Given the description of an element on the screen output the (x, y) to click on. 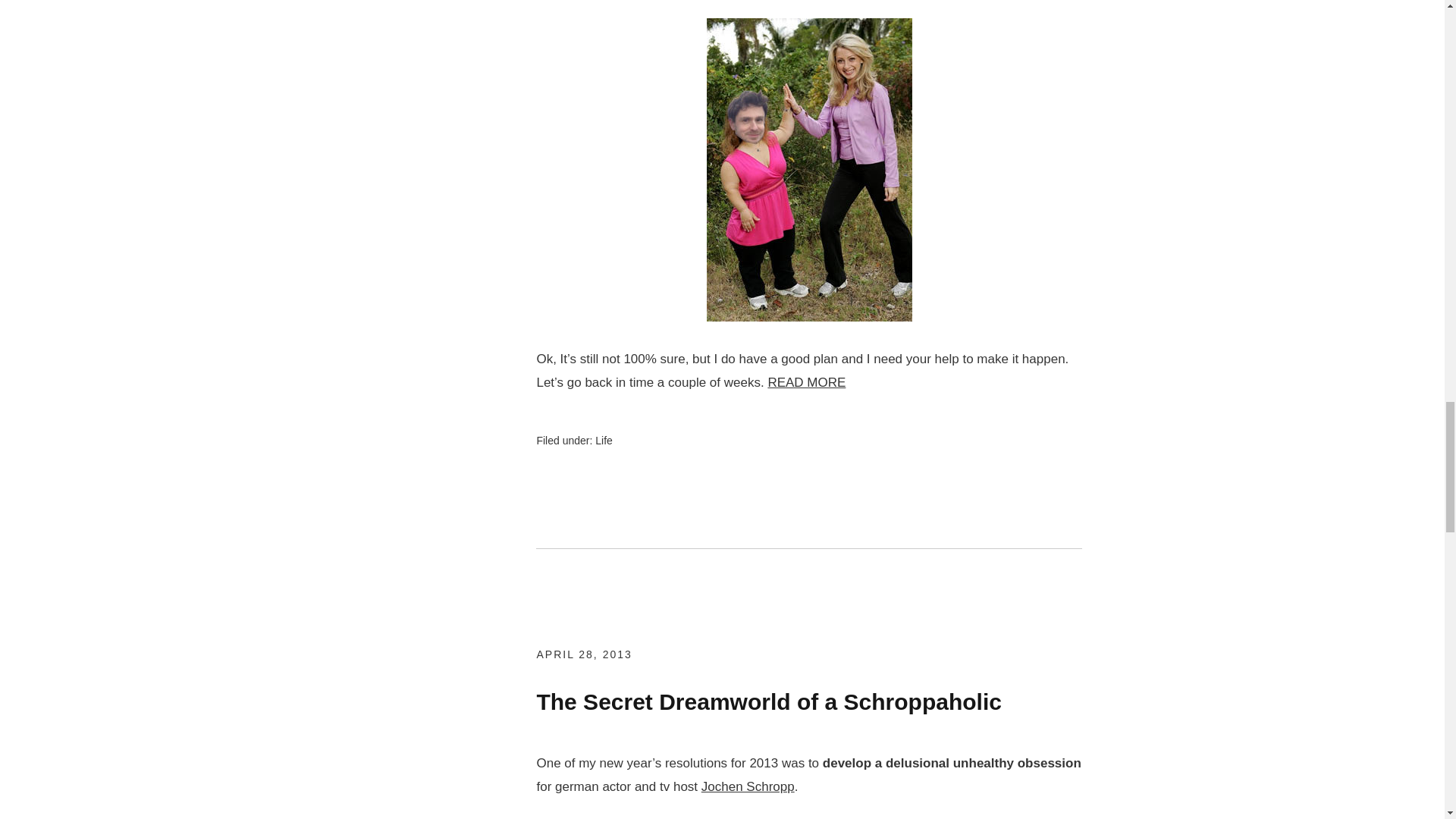
The Secret Dreamworld of a Schroppaholic (768, 701)
jochen schropp official website (747, 786)
Life (603, 440)
Permalink to The Secret Dreamworld of a Schroppaholic (768, 701)
Jochen Schropp (747, 786)
READ MORE (806, 382)
APRIL 28, 2013 (583, 654)
